Given the description of an element on the screen output the (x, y) to click on. 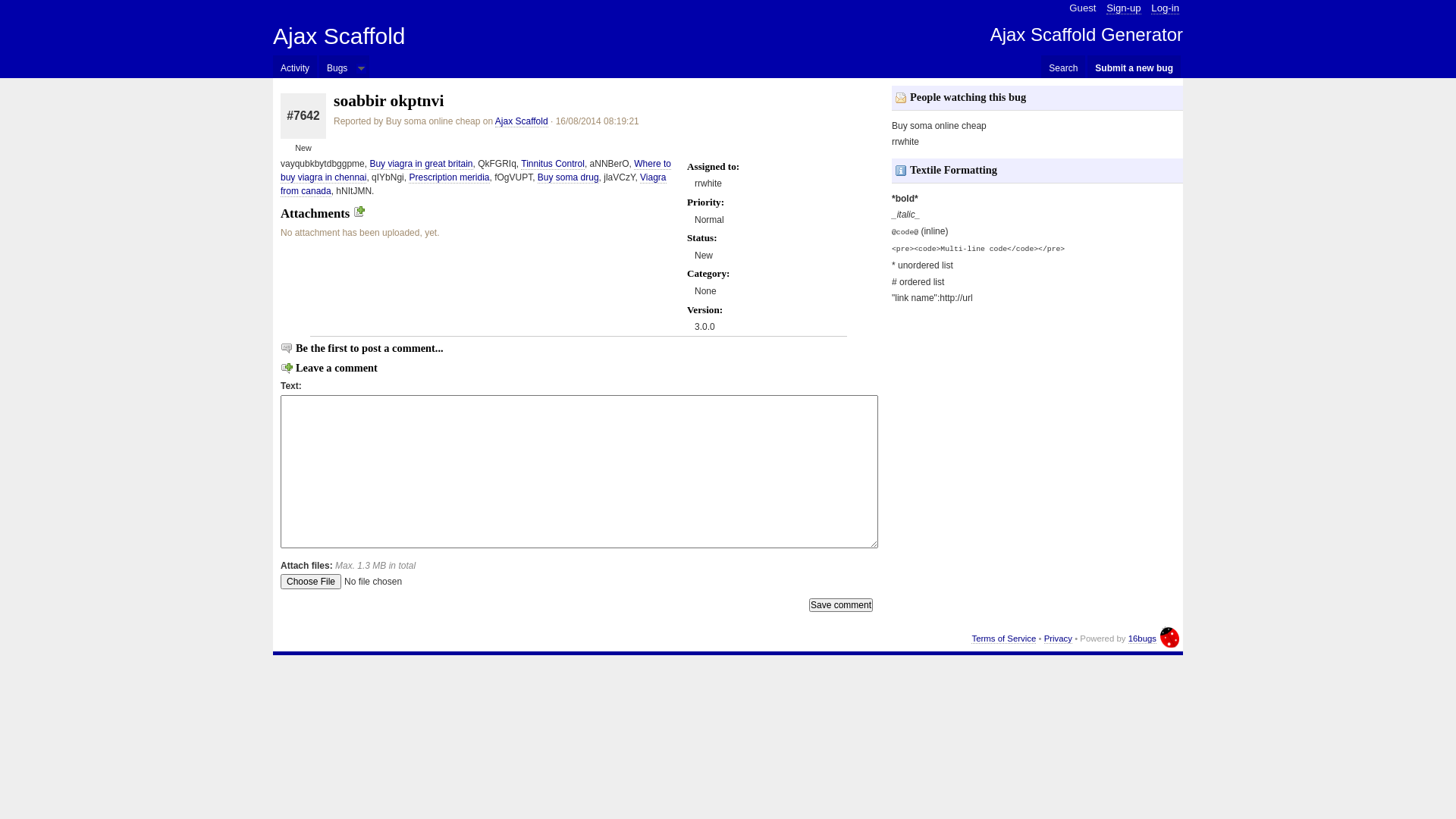
Terms of Service Element type: text (1003, 638)
Buy viagra in great britain Element type: text (420, 163)
Where to buy viagra in chennai Element type: text (475, 170)
Activity Element type: text (294, 66)
16bugs Element type: text (1142, 638)
Viagra from canada Element type: text (473, 184)
Tinnitus Control Element type: text (552, 163)
Ajax Scaffold Element type: text (339, 36)
Upload a file Element type: hover (359, 213)
Save comment Element type: text (840, 604)
Search Element type: text (1063, 66)
Submit a new bug Element type: text (1133, 66)
Log-in Element type: text (1165, 8)
Buy soma drug Element type: text (568, 177)
Ajax Scaffold Element type: text (521, 121)
Privacy Element type: text (1058, 638)
Bugs Element type: text (336, 66)
Ajax Scaffold Generator Element type: text (1086, 34)
Prescription meridia Element type: text (448, 177)
Sign-up Element type: text (1123, 8)
